Given the description of an element on the screen output the (x, y) to click on. 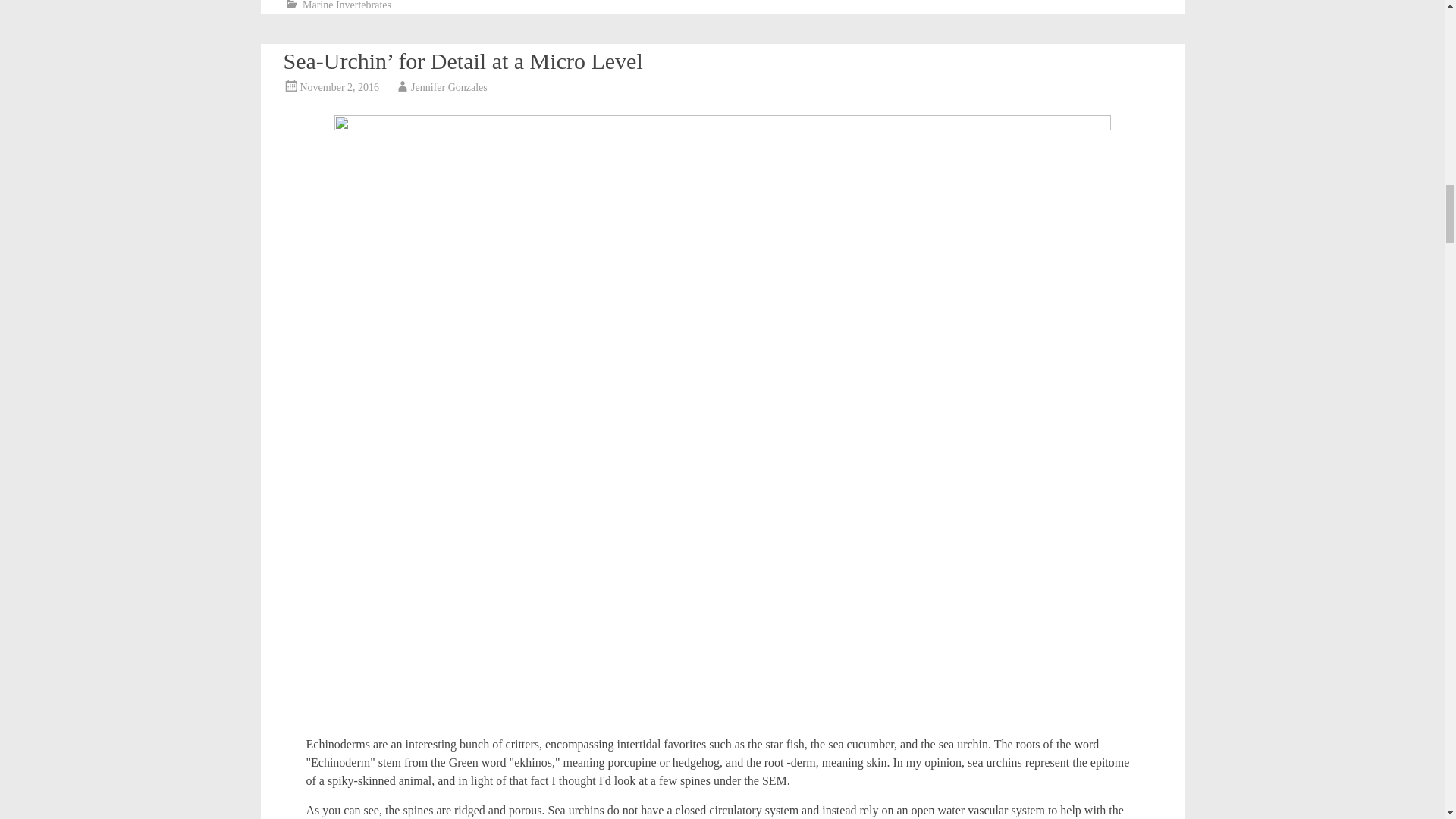
Marine Invertebrates (346, 5)
November 2, 2016 (339, 87)
Jennifer Gonzales (448, 87)
